Given the description of an element on the screen output the (x, y) to click on. 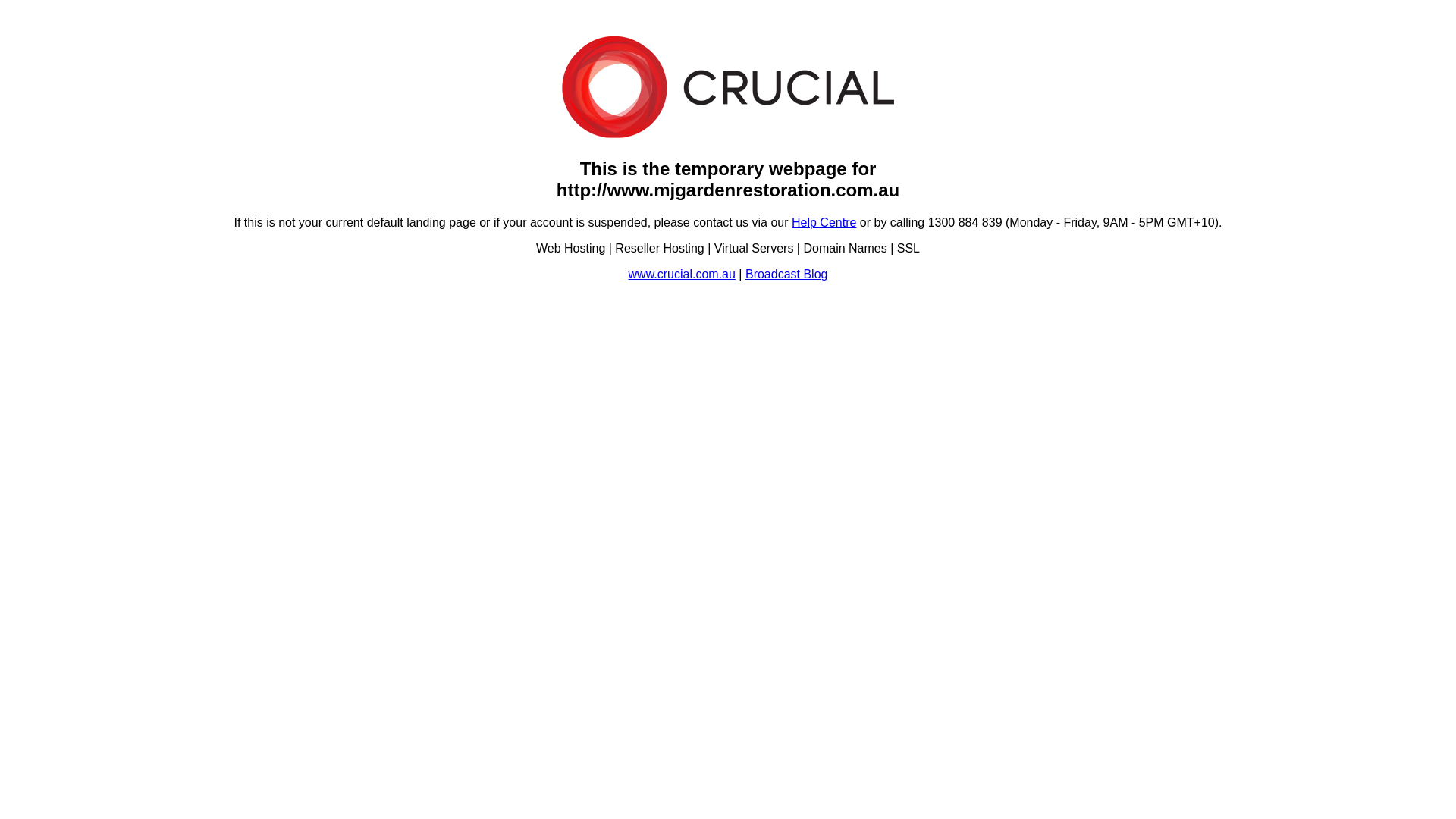
www.crucial.com.au Element type: text (681, 273)
Help Centre Element type: text (823, 222)
Broadcast Blog Element type: text (786, 273)
